Given the description of an element on the screen output the (x, y) to click on. 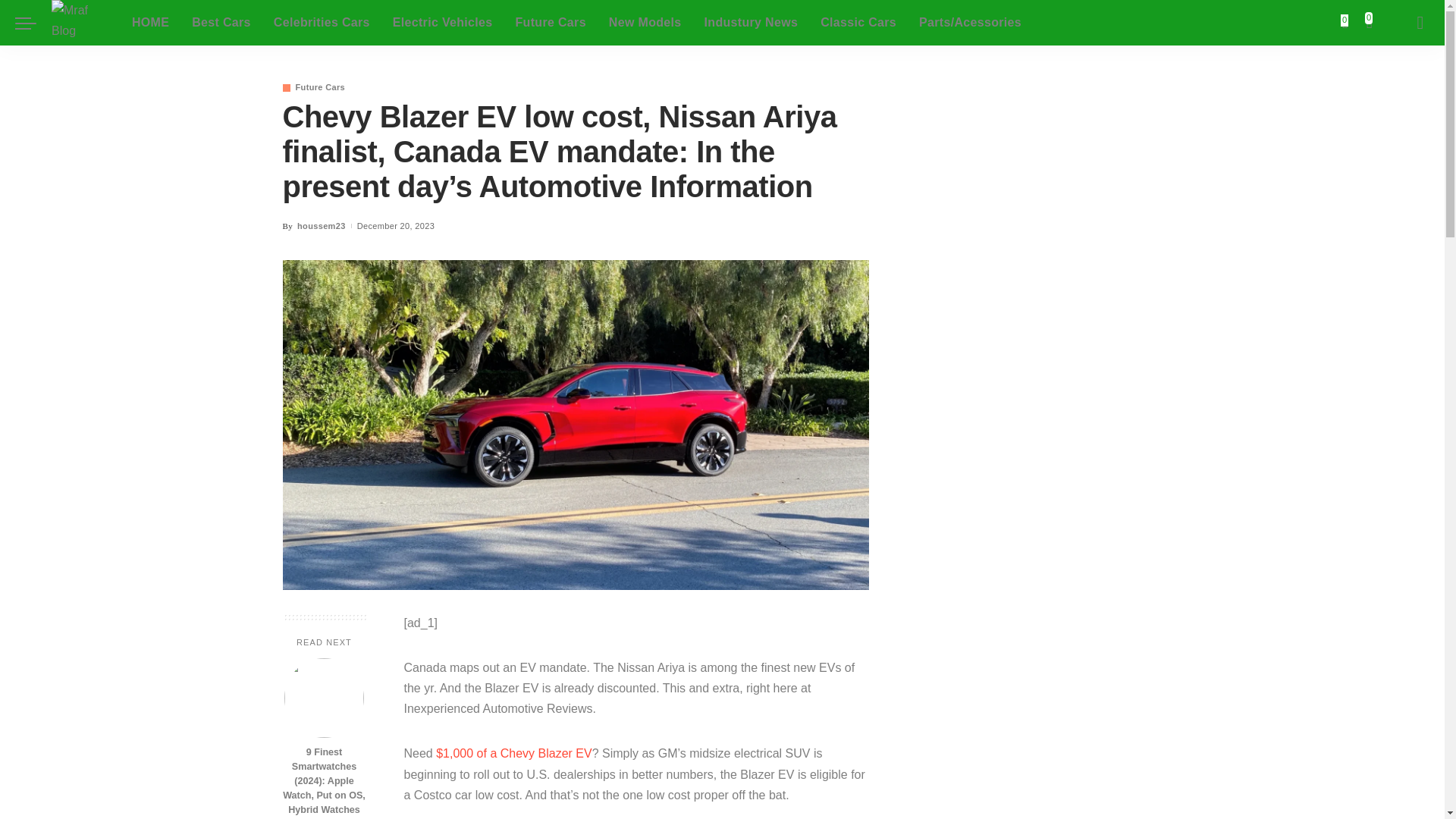
Best Cars (221, 22)
New Models (644, 22)
Mraf Blog (79, 22)
Celebrities Cars (321, 22)
Future Cars (549, 22)
HOME (150, 22)
Industury News (751, 22)
Electric Vehicles (442, 22)
Classic Cars (858, 22)
